Given the description of an element on the screen output the (x, y) to click on. 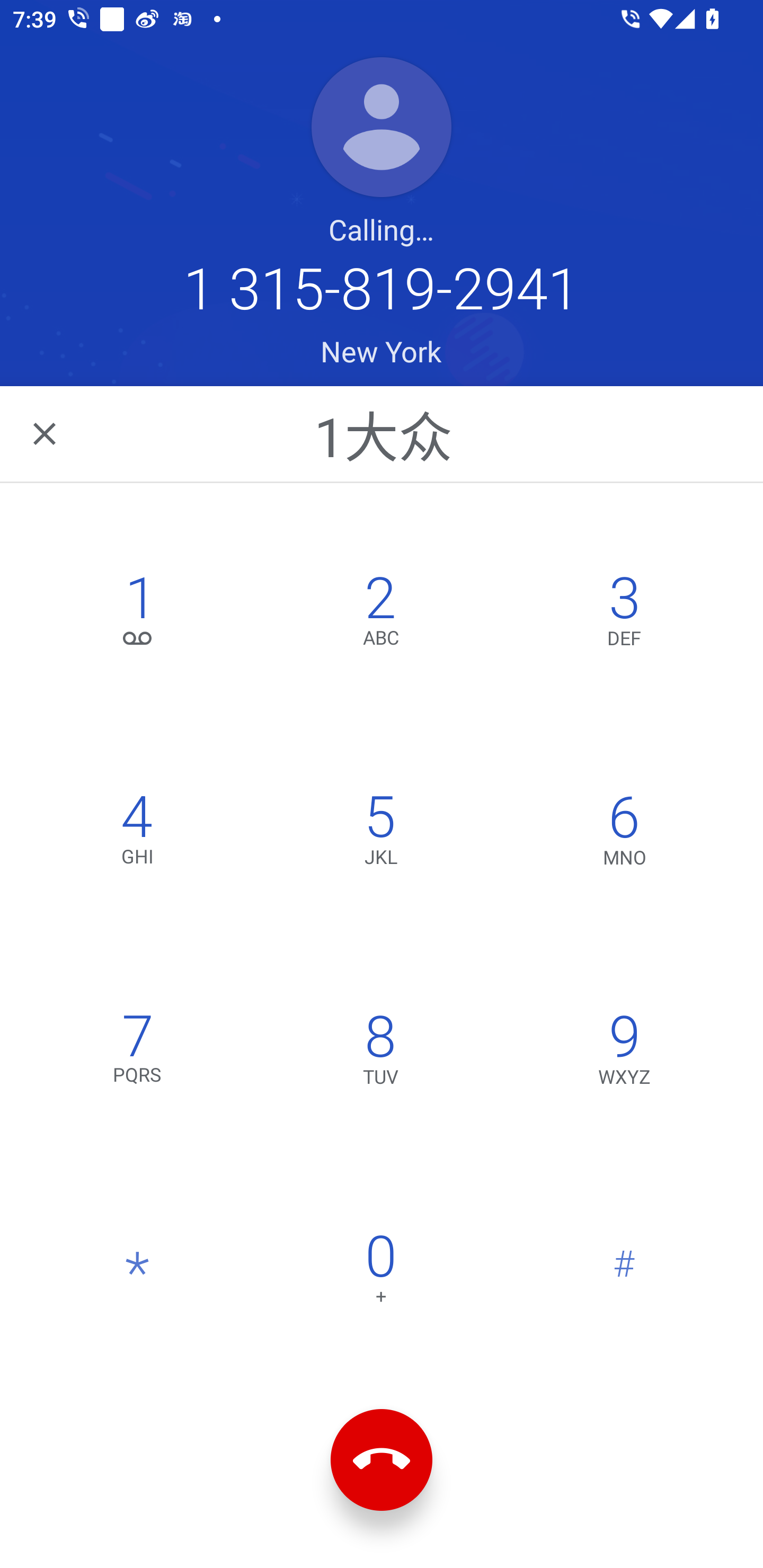
1大众 (382, 433)
Navigate back (45, 433)
1, 1 (137, 614)
2,ABC 2 ABC (380, 614)
3,DEF 3 DEF (624, 614)
4,GHI 4 GHI (137, 833)
5,JKL 5 JKL (380, 833)
6,MNO 6 MNO (624, 833)
7,PQRS 7 PQRS (137, 1053)
8,TUV 8 TUV (380, 1053)
9,WXYZ 9 WXYZ (624, 1053)
* (137, 1272)
0 0 + (380, 1272)
# (624, 1272)
End call (381, 1460)
